Given the description of an element on the screen output the (x, y) to click on. 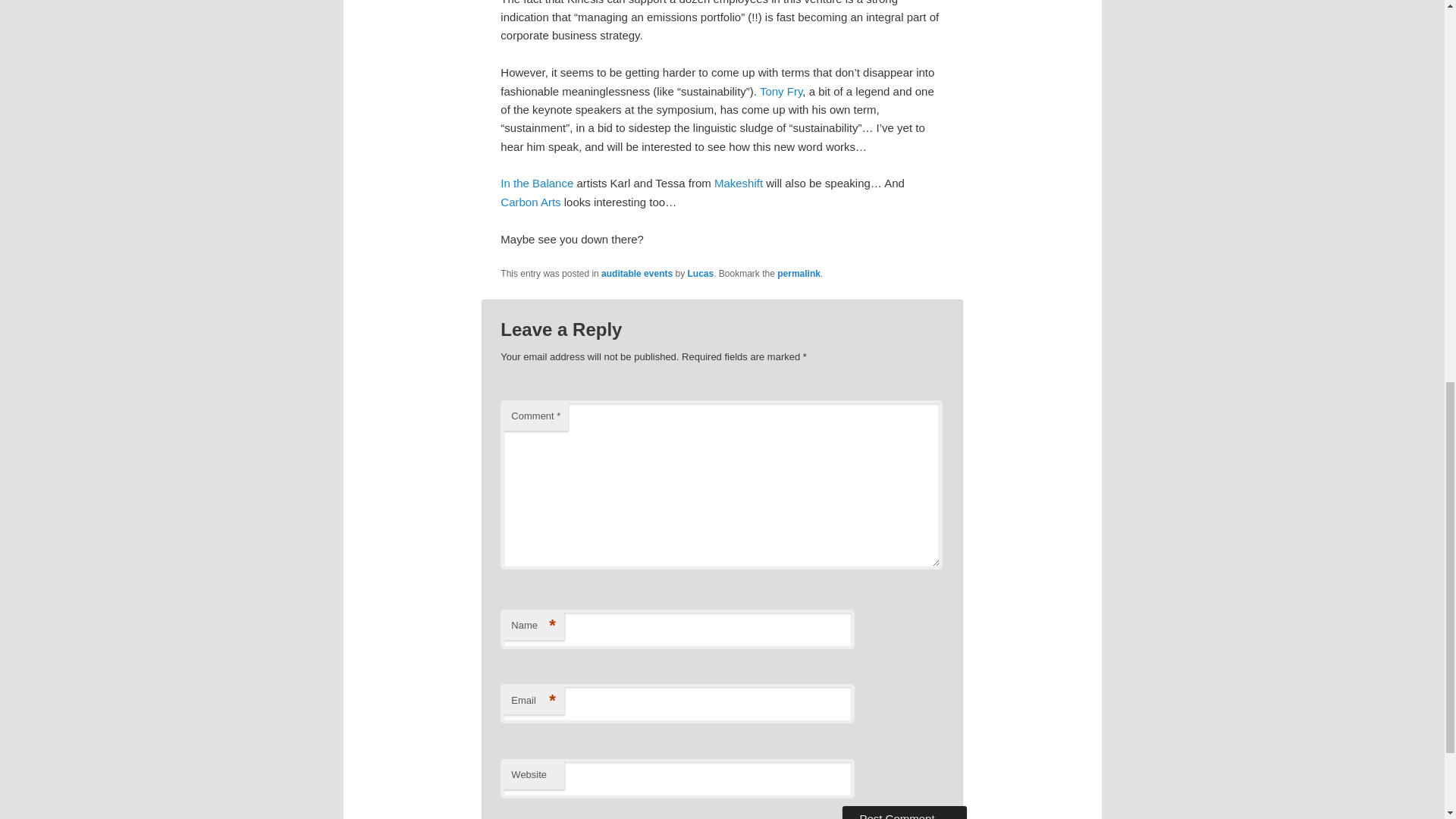
Permalink to Auditable Events: Hot House (799, 273)
Carbon Arts (530, 201)
Makeshift (739, 182)
permalink (799, 273)
In the Balance (536, 182)
Post Comment (904, 812)
auditable events (636, 273)
Lucas (700, 273)
Post Comment (904, 812)
Tony Fry (781, 91)
